Given the description of an element on the screen output the (x, y) to click on. 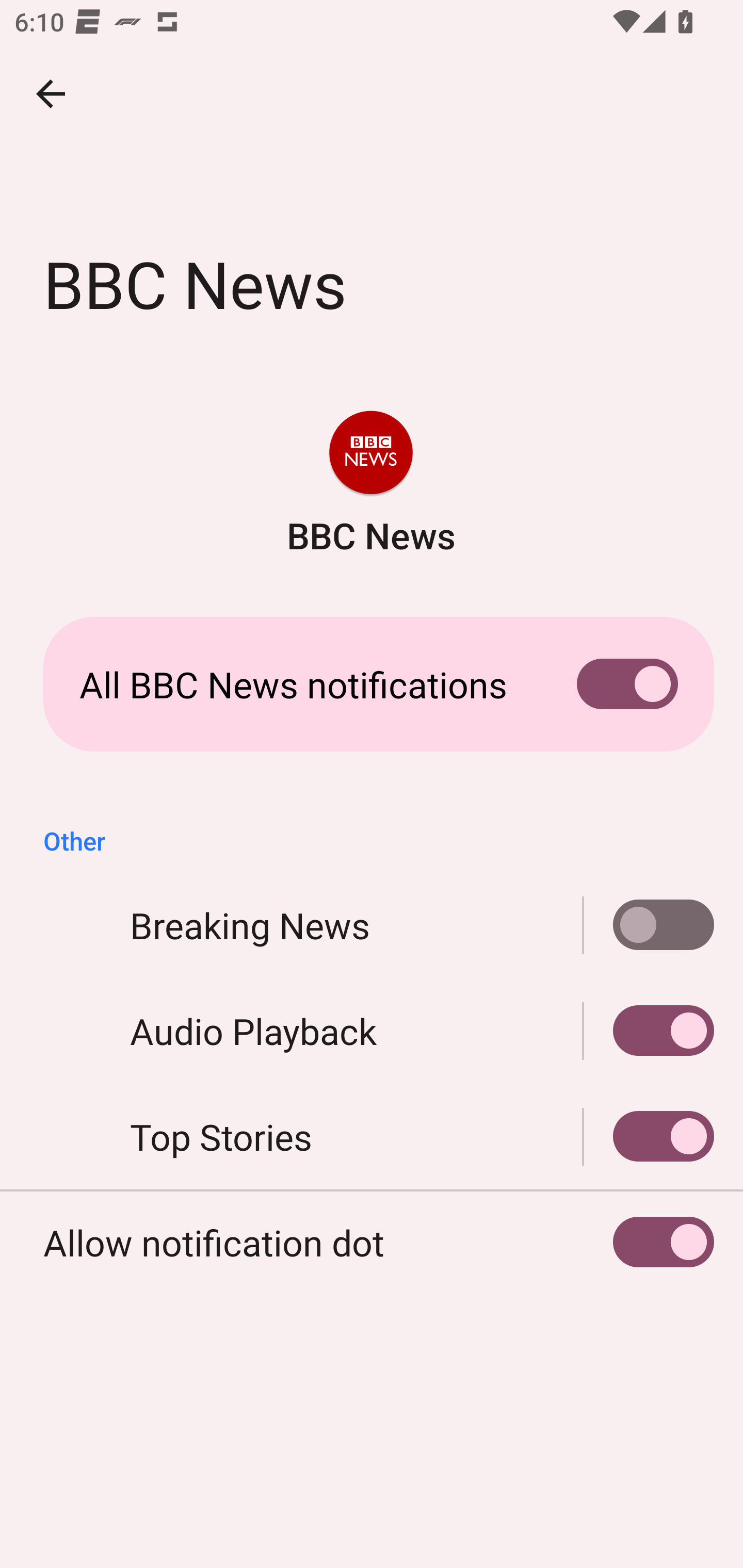
Navigate up (50, 93)
BBC News (370, 484)
All BBC News notifications (371, 684)
Breaking News (371, 924)
Breaking News (648, 924)
Audio Playback (371, 1030)
Audio Playback (648, 1030)
Top Stories (371, 1136)
Top Stories (648, 1136)
Allow notification dot (371, 1242)
